Given the description of an element on the screen output the (x, y) to click on. 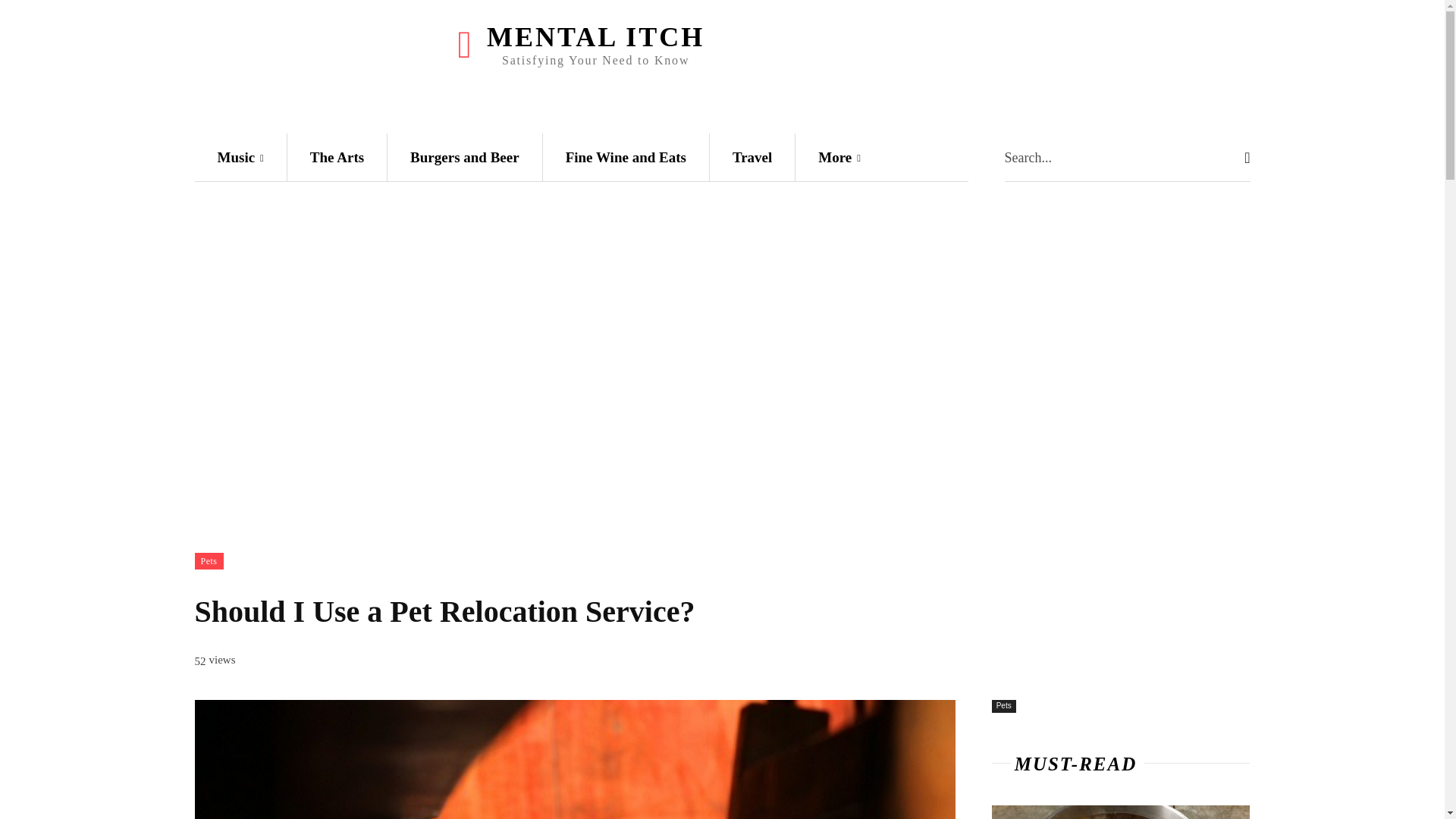
What Is Wort and Why Is It So Important for Beer Brewing? (1120, 812)
Should I Use a Pet Relocation Service (574, 759)
